Given the description of an element on the screen output the (x, y) to click on. 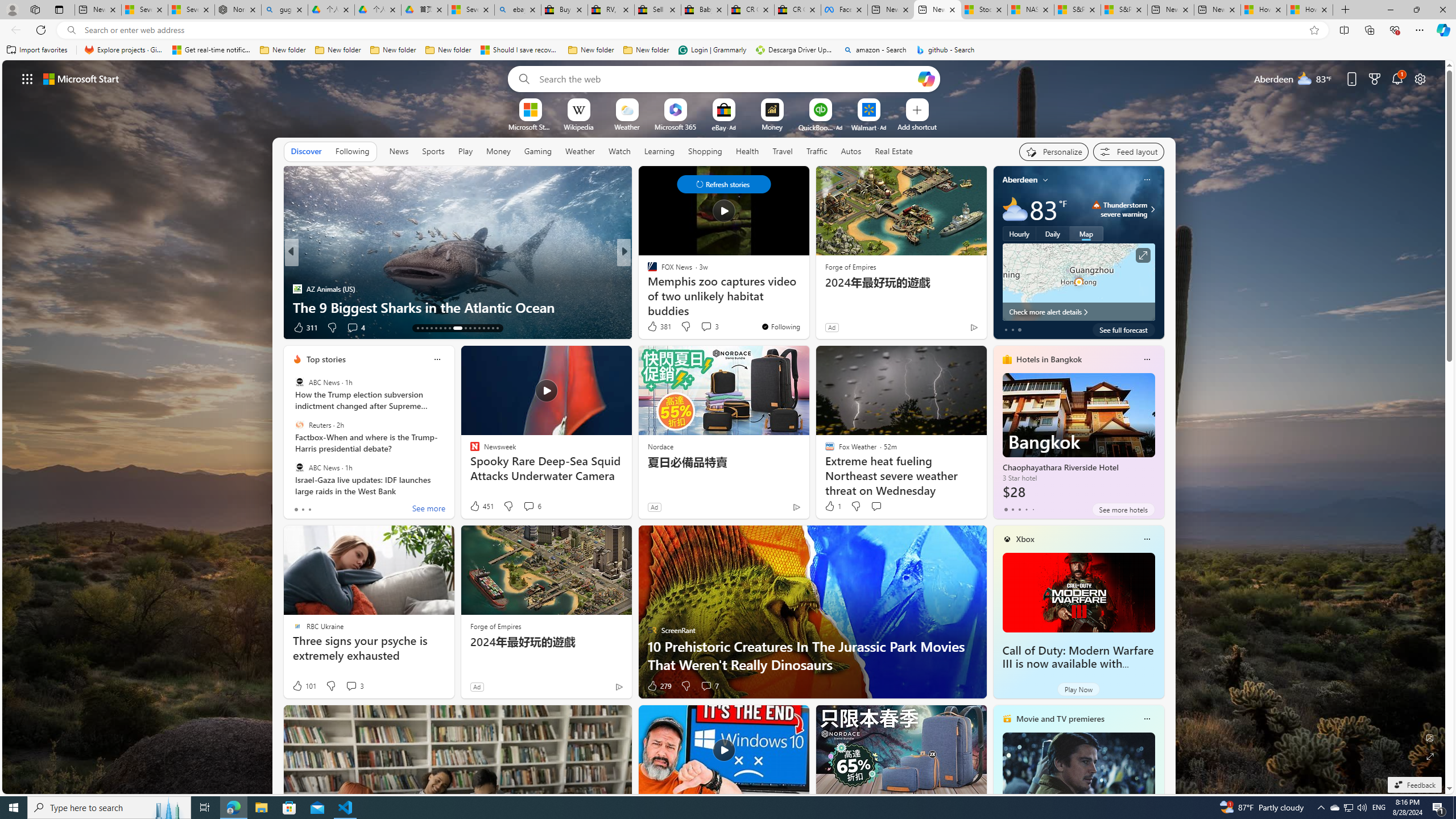
Expand background (1430, 756)
Traffic (816, 151)
Copilot (Ctrl+Shift+.) (1442, 29)
Open Copilot (926, 78)
AutomationID: tab-17 (435, 328)
Money (498, 151)
AutomationID: tab-29 (497, 328)
Edit Background (1430, 737)
Microsoft 365 (675, 126)
Sell worldwide with eBay (656, 9)
Money (497, 151)
381 Like (658, 326)
Daily (1052, 233)
